Given the description of an element on the screen output the (x, y) to click on. 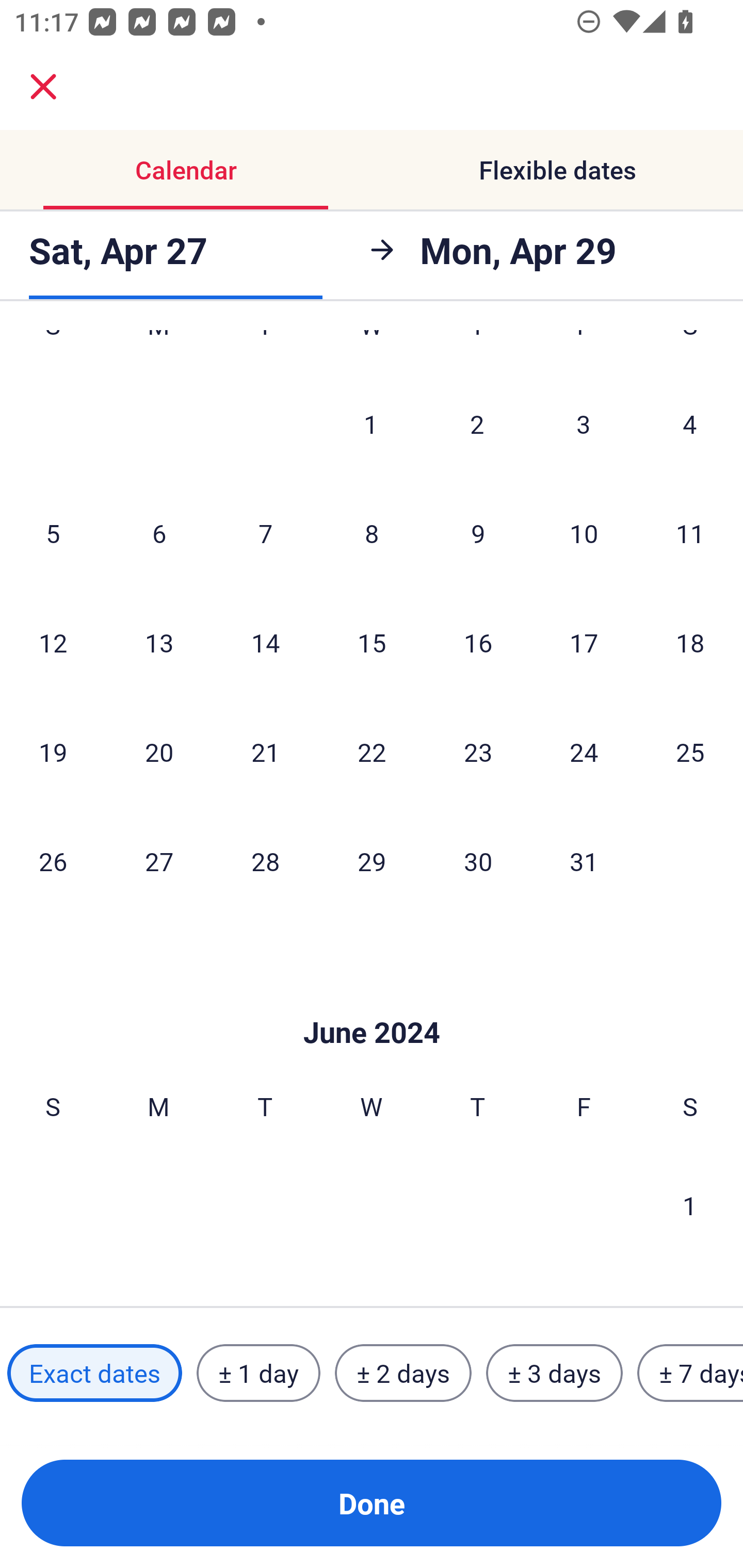
close. (43, 86)
Flexible dates (557, 170)
1 Wednesday, May 1, 2024 (371, 423)
2 Thursday, May 2, 2024 (477, 423)
3 Friday, May 3, 2024 (583, 423)
4 Saturday, May 4, 2024 (689, 423)
5 Sunday, May 5, 2024 (53, 532)
6 Monday, May 6, 2024 (159, 532)
7 Tuesday, May 7, 2024 (265, 532)
8 Wednesday, May 8, 2024 (371, 532)
9 Thursday, May 9, 2024 (477, 532)
10 Friday, May 10, 2024 (584, 532)
11 Saturday, May 11, 2024 (690, 532)
12 Sunday, May 12, 2024 (53, 641)
13 Monday, May 13, 2024 (159, 641)
14 Tuesday, May 14, 2024 (265, 641)
15 Wednesday, May 15, 2024 (371, 641)
16 Thursday, May 16, 2024 (477, 641)
17 Friday, May 17, 2024 (584, 641)
18 Saturday, May 18, 2024 (690, 641)
19 Sunday, May 19, 2024 (53, 751)
20 Monday, May 20, 2024 (159, 751)
21 Tuesday, May 21, 2024 (265, 751)
22 Wednesday, May 22, 2024 (371, 751)
23 Thursday, May 23, 2024 (477, 751)
24 Friday, May 24, 2024 (584, 751)
25 Saturday, May 25, 2024 (690, 751)
26 Sunday, May 26, 2024 (53, 860)
27 Monday, May 27, 2024 (159, 860)
28 Tuesday, May 28, 2024 (265, 860)
29 Wednesday, May 29, 2024 (371, 860)
30 Thursday, May 30, 2024 (477, 860)
31 Friday, May 31, 2024 (584, 860)
Skip to Done (371, 1001)
1 Saturday, June 1, 2024 (689, 1204)
Exact dates (94, 1372)
± 1 day (258, 1372)
± 2 days (403, 1372)
± 3 days (553, 1372)
± 7 days (690, 1372)
Done (371, 1502)
